Given the description of an element on the screen output the (x, y) to click on. 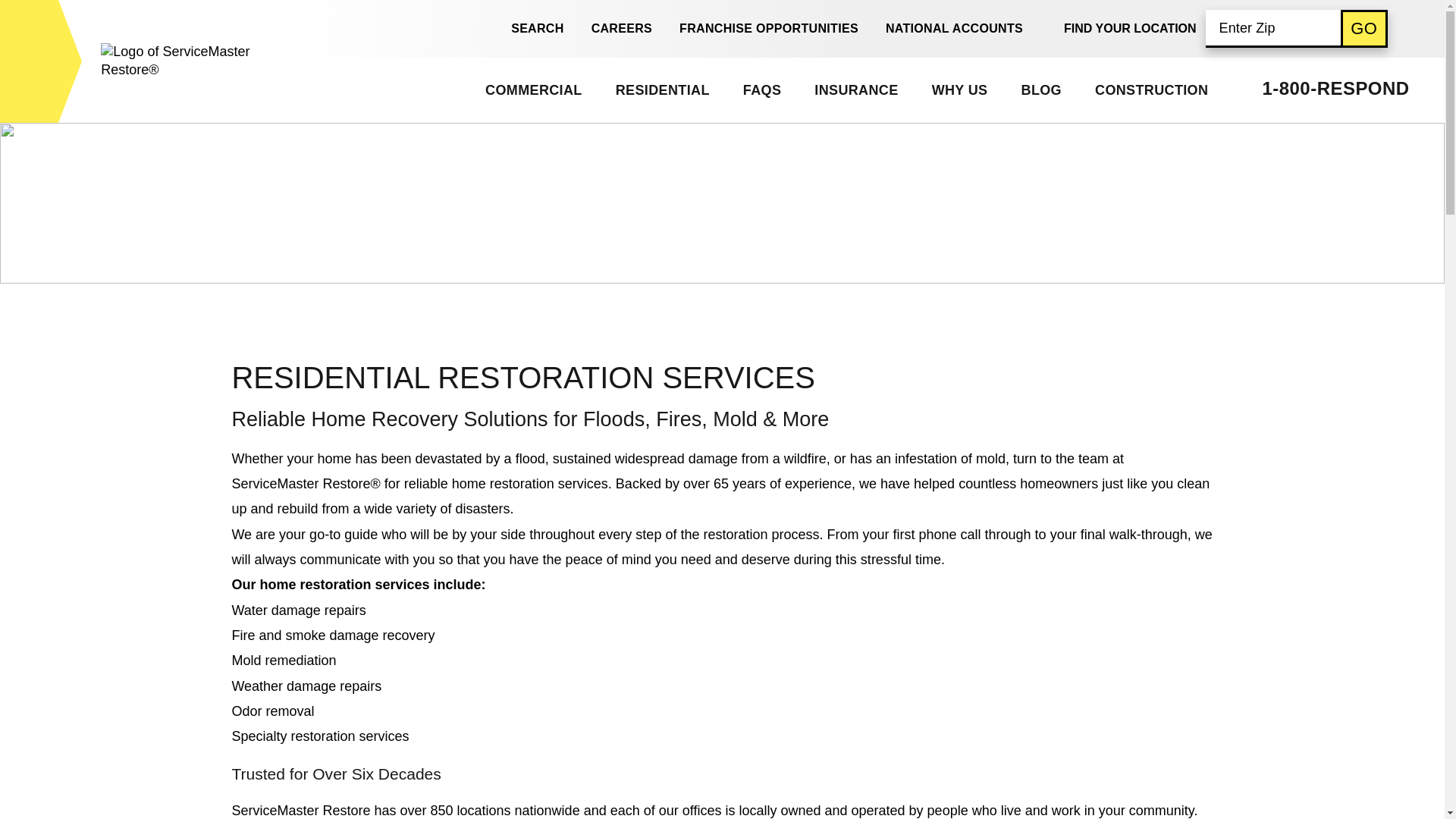
GO (1363, 27)
COMMERCIAL (532, 89)
FRANCHISE OPPORTUNITIES (768, 28)
CAREERS (621, 28)
RESIDENTIAL (661, 89)
FIND YOUR LOCATION (1130, 28)
FAQS (761, 89)
WHY US (959, 89)
INSURANCE (855, 89)
NATIONAL ACCOUNTS (954, 28)
